Given the description of an element on the screen output the (x, y) to click on. 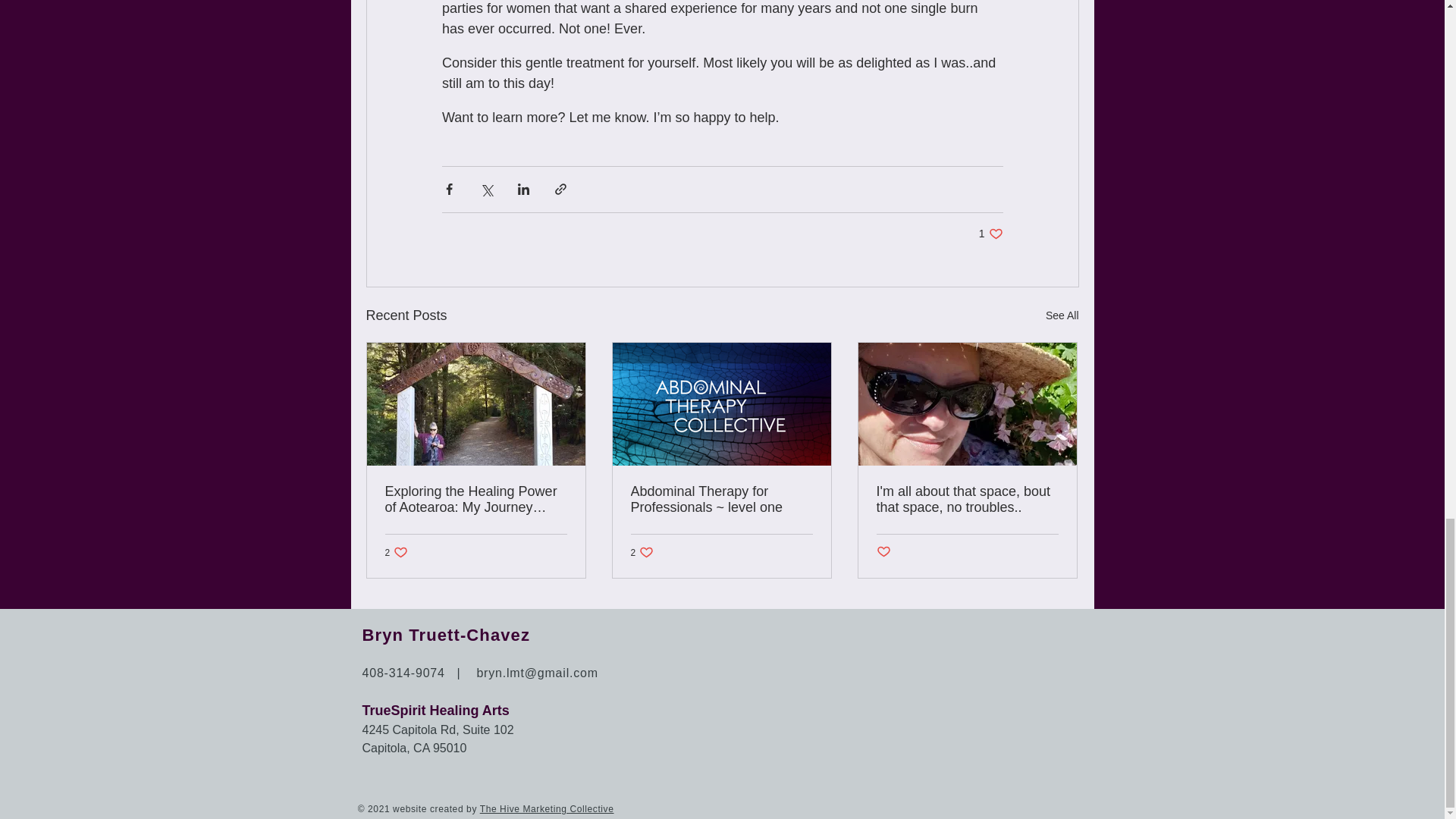
Post not marked as liked (883, 552)
The Hive Marketing Collective (397, 552)
See All (547, 808)
I'm all about that space, bout that space, no troubles.. (1061, 315)
